Given the description of an element on the screen output the (x, y) to click on. 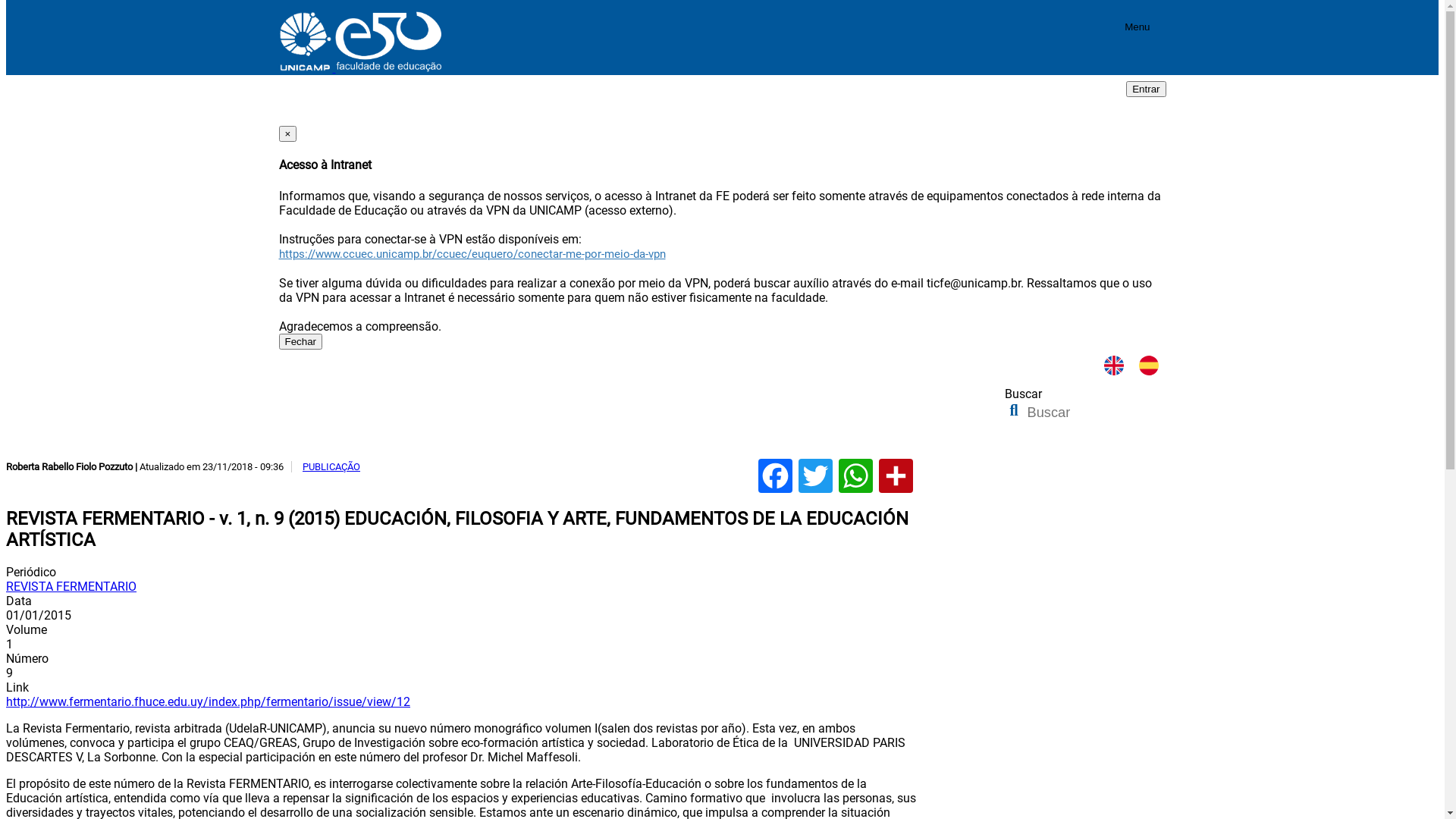
Twitter Element type: text (815, 475)
Intranet Element type: text (722, 114)
Fechar Element type: text (300, 341)
UNICAMP Element type: hover (307, 67)
FE Publica Element type: text (608, 444)
WhatsApp Element type: text (855, 475)
REVISTA FERMENTARIO Element type: text (71, 586)
Menu Element type: text (1137, 27)
Entrar Element type: text (1145, 89)
Share Element type: text (895, 475)
Facebook Element type: text (775, 475)
